Given the description of an element on the screen output the (x, y) to click on. 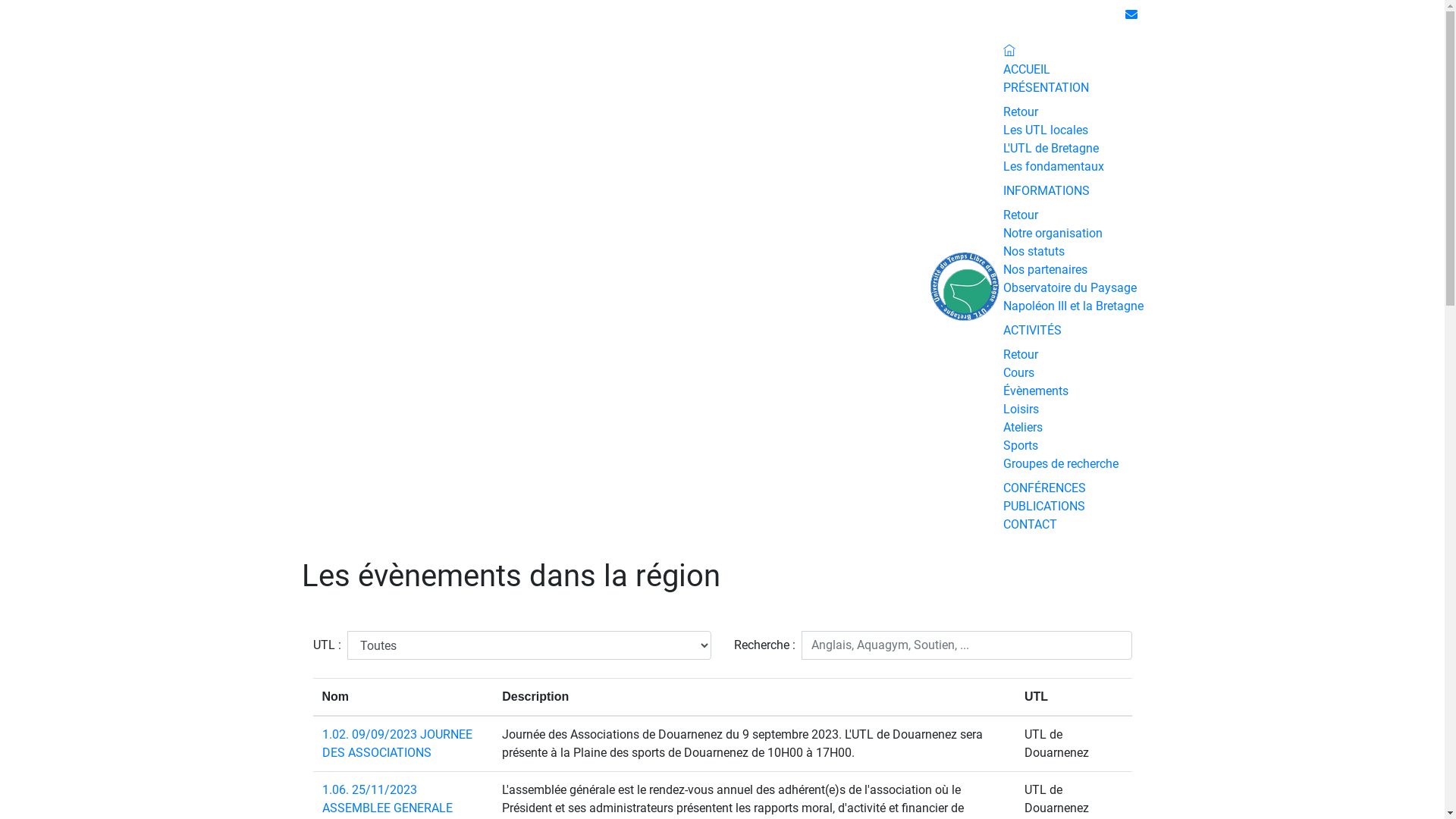
Cours Element type: text (1017, 372)
PUBLICATIONS Element type: text (1043, 505)
1.06. 25/11/2023 ASSEMBLEE GENERALE Element type: text (386, 798)
Ateliers Element type: text (1021, 427)
INFORMATIONS Element type: text (1045, 190)
L'UTL de Bretagne Element type: text (1050, 148)
Loisirs Element type: text (1020, 408)
Retour Element type: text (1019, 214)
1.02. 09/09/2023 JOURNEE DES ASSOCIATIONS Element type: text (396, 743)
ACCUEIL Element type: text (1025, 69)
Les UTL locales Element type: text (1044, 129)
Observatoire du Paysage Element type: text (1068, 287)
Notre organisation Element type: text (1051, 232)
Nos statuts Element type: text (1032, 251)
Nos partenaires Element type: text (1044, 269)
CONTACT Element type: text (1029, 524)
Les fondamentaux Element type: text (1052, 166)
Sports Element type: text (1019, 445)
Retour Element type: text (1019, 111)
Retour Element type: text (1019, 354)
Groupes de recherche Element type: text (1059, 463)
